Given the description of an element on the screen output the (x, y) to click on. 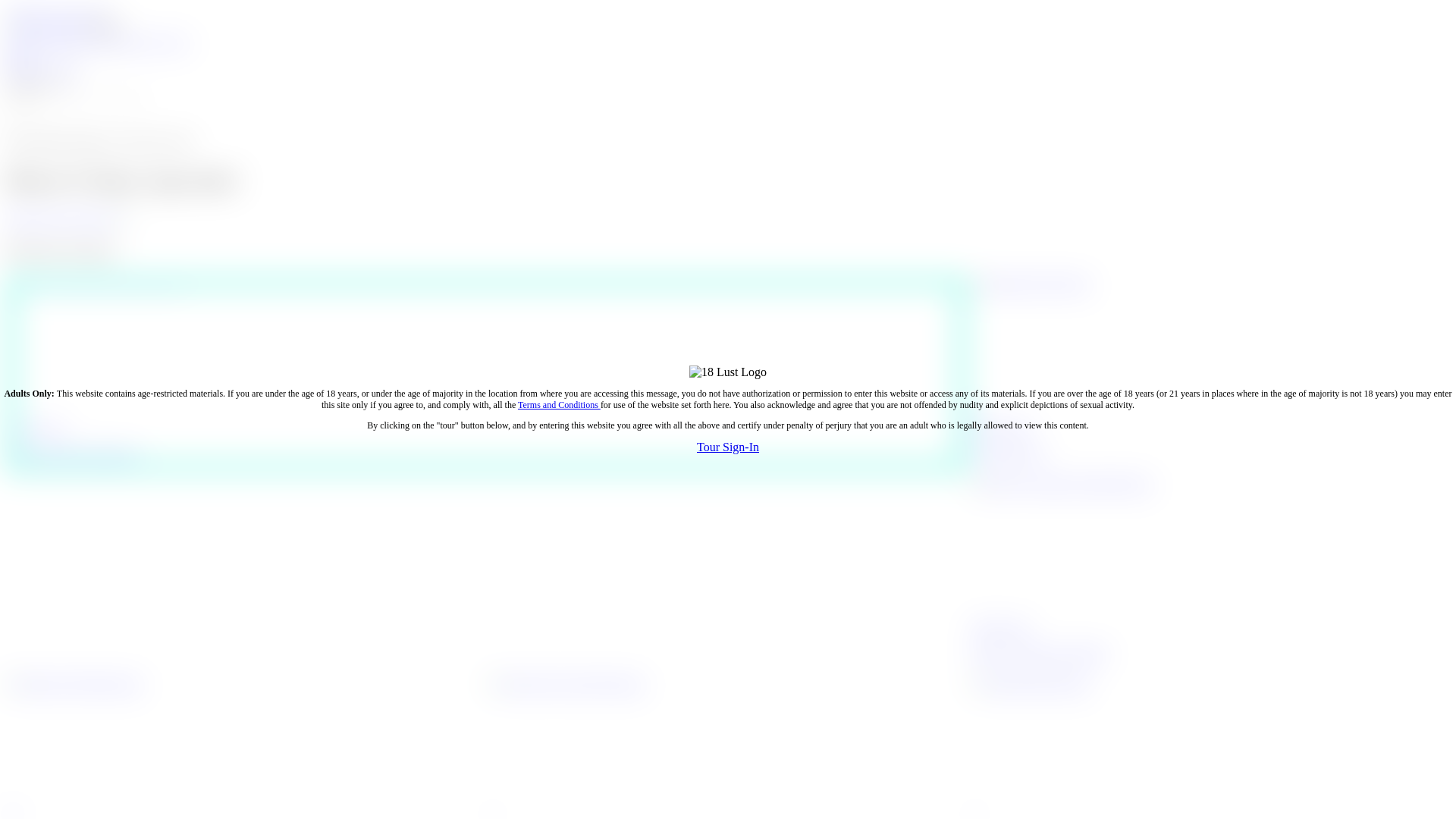
1 Element type: text (9, 413)
Beautiful April Element type: text (1007, 453)
Sign-In Element type: text (740, 445)
Watch Yessi Pretty Little Slut Now! Element type: hover (566, 683)
Sex Toys Element type: text (56, 68)
Watch Hanna Porn Debut Now! Element type: hover (73, 683)
Watch Later Element type: text (1000, 627)
Watch Later Element type: text (35, 427)
Store Element type: text (20, 68)
Scenes Element type: text (24, 41)
Welcome to the official 18 Lust website! Element type: hover (44, 27)
Store Element type: text (130, 41)
Watch Candela Debut Now! Element type: hover (1030, 683)
Watch Later Element type: text (1000, 427)
Watch Brooke Creampie Extended Now! Element type: hover (1061, 483)
Watch Kelly and Yessi Threesome Now! Element type: hover (95, 283)
Pornstars Element type: text (66, 41)
Menu Element type: text (104, 27)
Join Element type: text (99, 12)
Shop Element type: text (18, 55)
Welcome to the official 18 Lust website! Element type: hover (727, 372)
Watch Beautiful April Now! Element type: hover (1030, 283)
Terms and Conditions Element type: text (558, 403)
Tour Element type: text (709, 445)
Tags Element type: text (103, 41)
Sex Toys Element type: text (166, 41)
Redeem Your Savings Element type: text (61, 218)
Member Sign-In Element type: text (47, 12)
Kelly and Yessi Threesome Element type: text (72, 453)
3 Element type: text (974, 413)
Brooke Creampie Extended Element type: text (1038, 653)
